Given the description of an element on the screen output the (x, y) to click on. 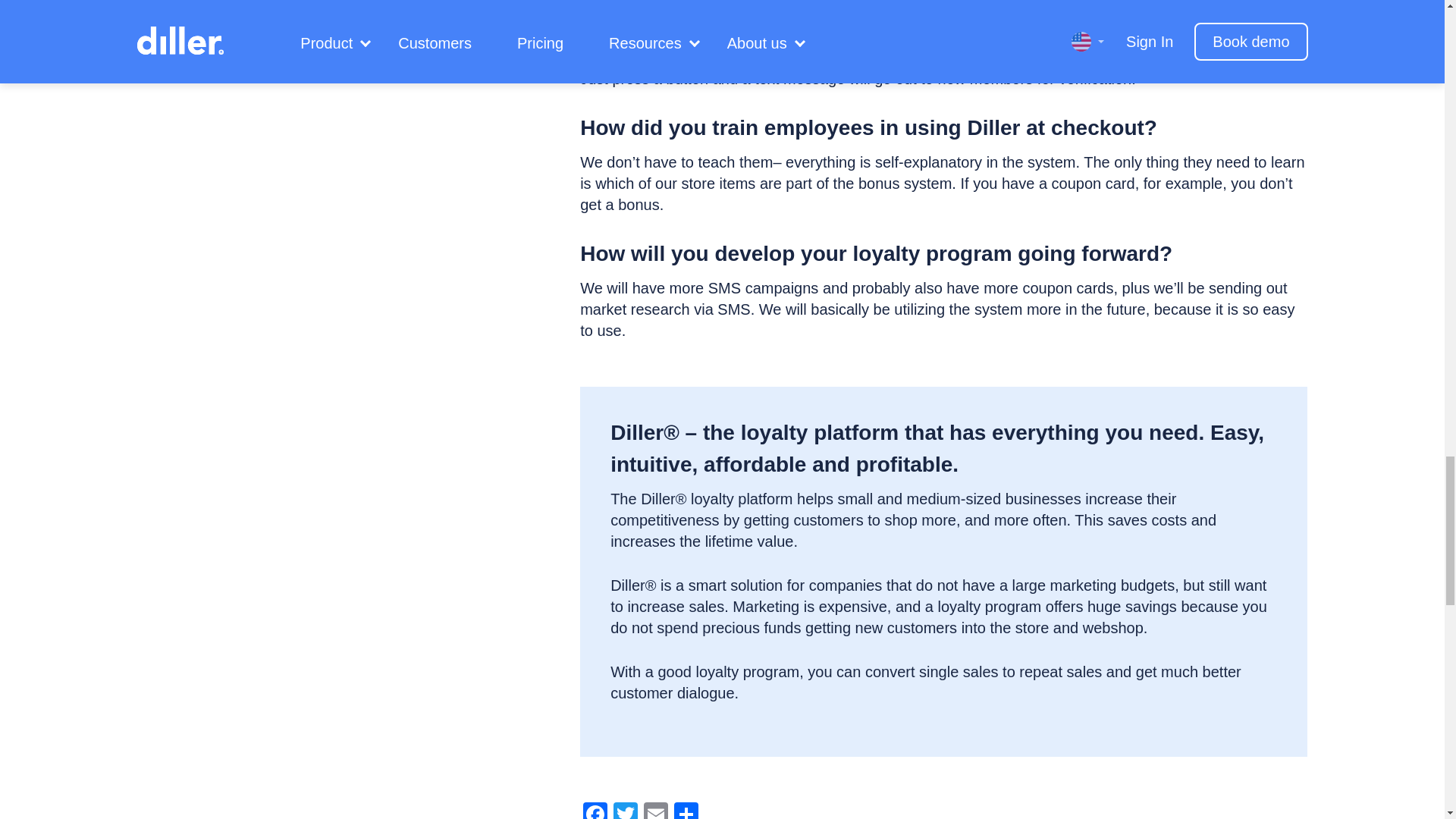
Twitter (625, 810)
Facebook (594, 810)
Email (655, 810)
